Given the description of an element on the screen output the (x, y) to click on. 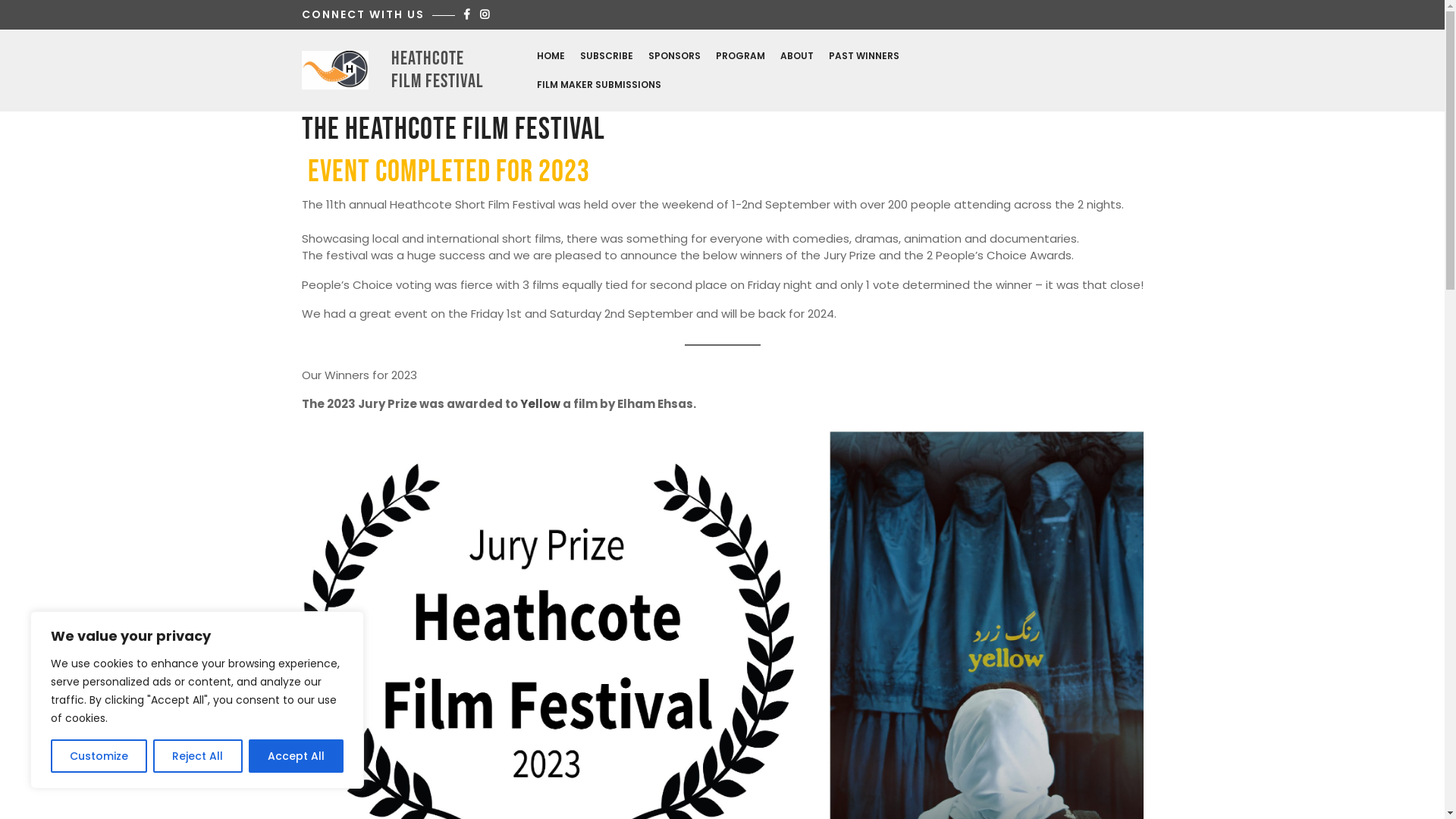
Heathcote Film Festival Element type: text (437, 70)
FILM MAKER SUBMISSIONS Element type: text (598, 84)
Yellow Element type: text (540, 403)
PAST WINNERS Element type: text (863, 55)
HOME Element type: text (550, 55)
Accept All Element type: text (295, 755)
Customize Element type: text (98, 755)
Reject All Element type: text (197, 755)
PROGRAM Element type: text (740, 55)
SPONSORS Element type: text (673, 55)
SUBSCRIBE Element type: text (605, 55)
ABOUT Element type: text (795, 55)
